Given the description of an element on the screen output the (x, y) to click on. 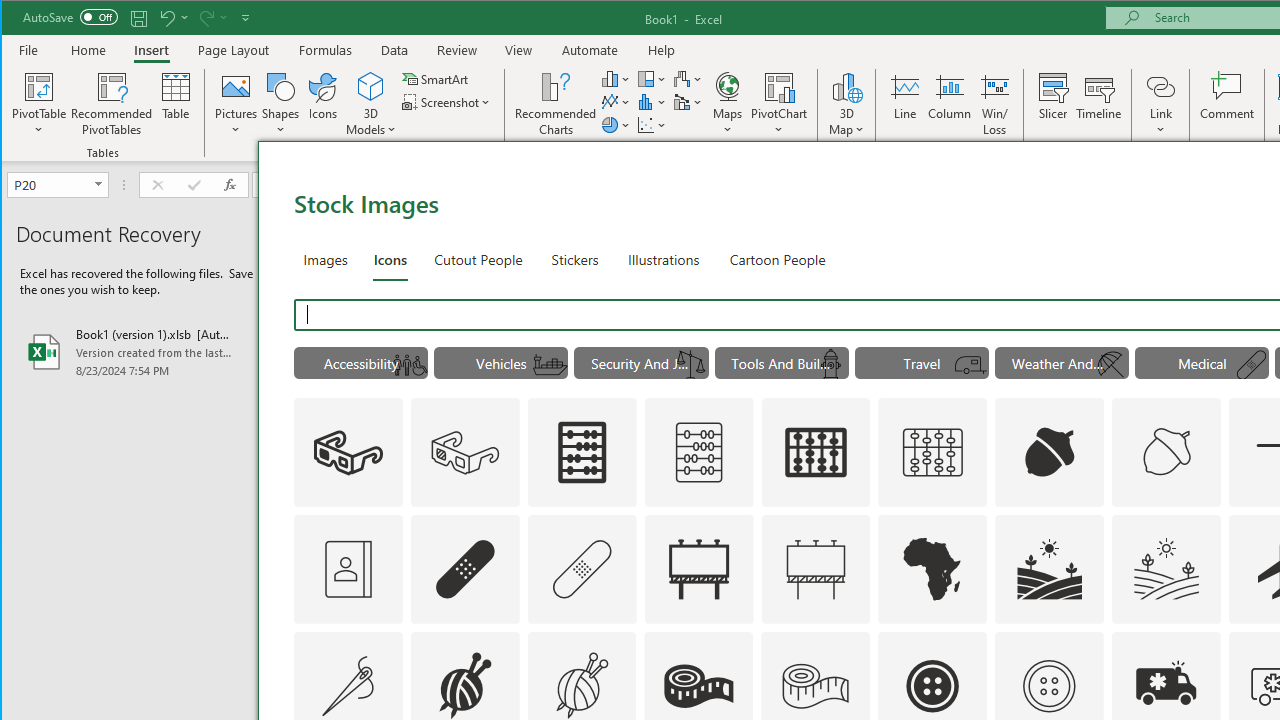
AutomationID: Icons_Advertising (698, 568)
Line (904, 104)
AutomationID: Icons_Agriculture_M (1167, 568)
"Accessibility" Icons. (360, 362)
AutomationID: Icons_AddressBook_RTL_M (348, 568)
Images (325, 258)
AutomationID: Icons (1049, 686)
